Given the description of an element on the screen output the (x, y) to click on. 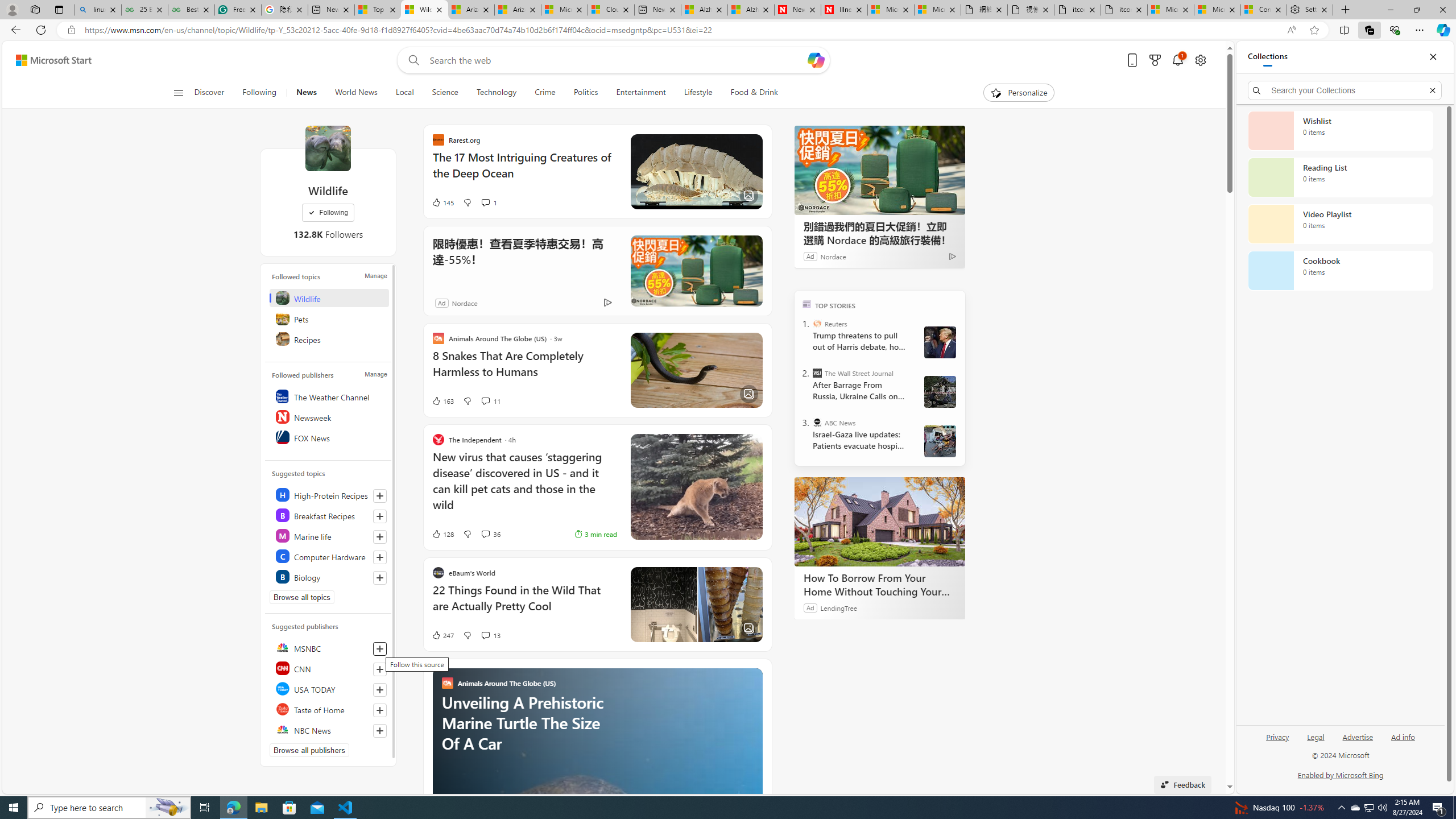
Search your Collections (1345, 90)
Class: highlight (328, 576)
linux basic - Search (97, 9)
Cloud Computing Services | Microsoft Azure (610, 9)
Enter your search term (617, 59)
